Given the description of an element on the screen output the (x, y) to click on. 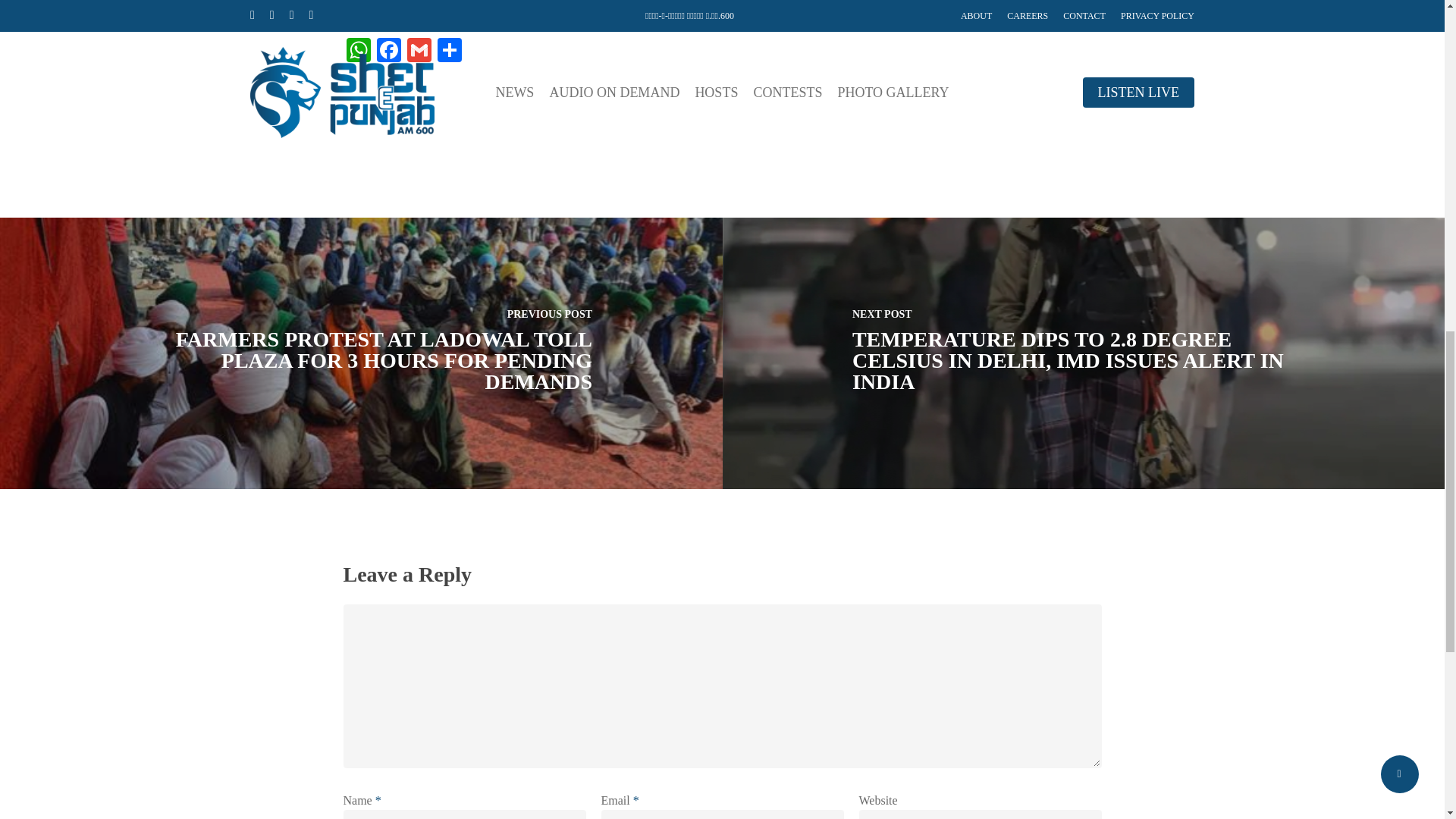
WhatsApp (357, 51)
WhatsApp (357, 51)
Facebook (387, 51)
Gmail (418, 51)
Gmail (418, 51)
Facebook (387, 51)
